Given the description of an element on the screen output the (x, y) to click on. 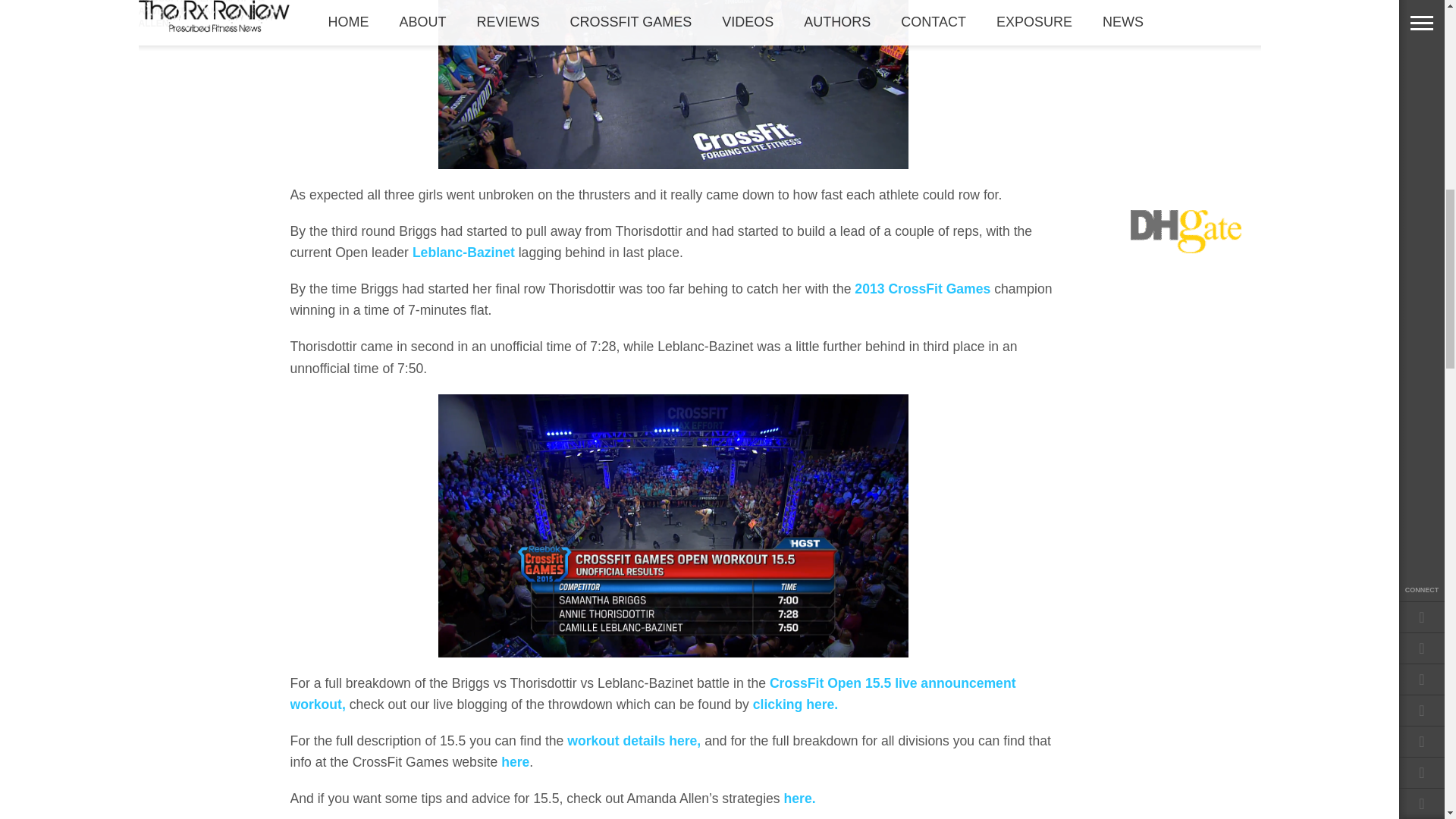
Camille Leblanc-Bazinet Wins 2014 CrossFit Games (463, 252)
Sam Briggs: 2013 CrossFit Games Champion (922, 288)
CrossFit 15.5 Open Workout Announced! (633, 740)
